Given the description of an element on the screen output the (x, y) to click on. 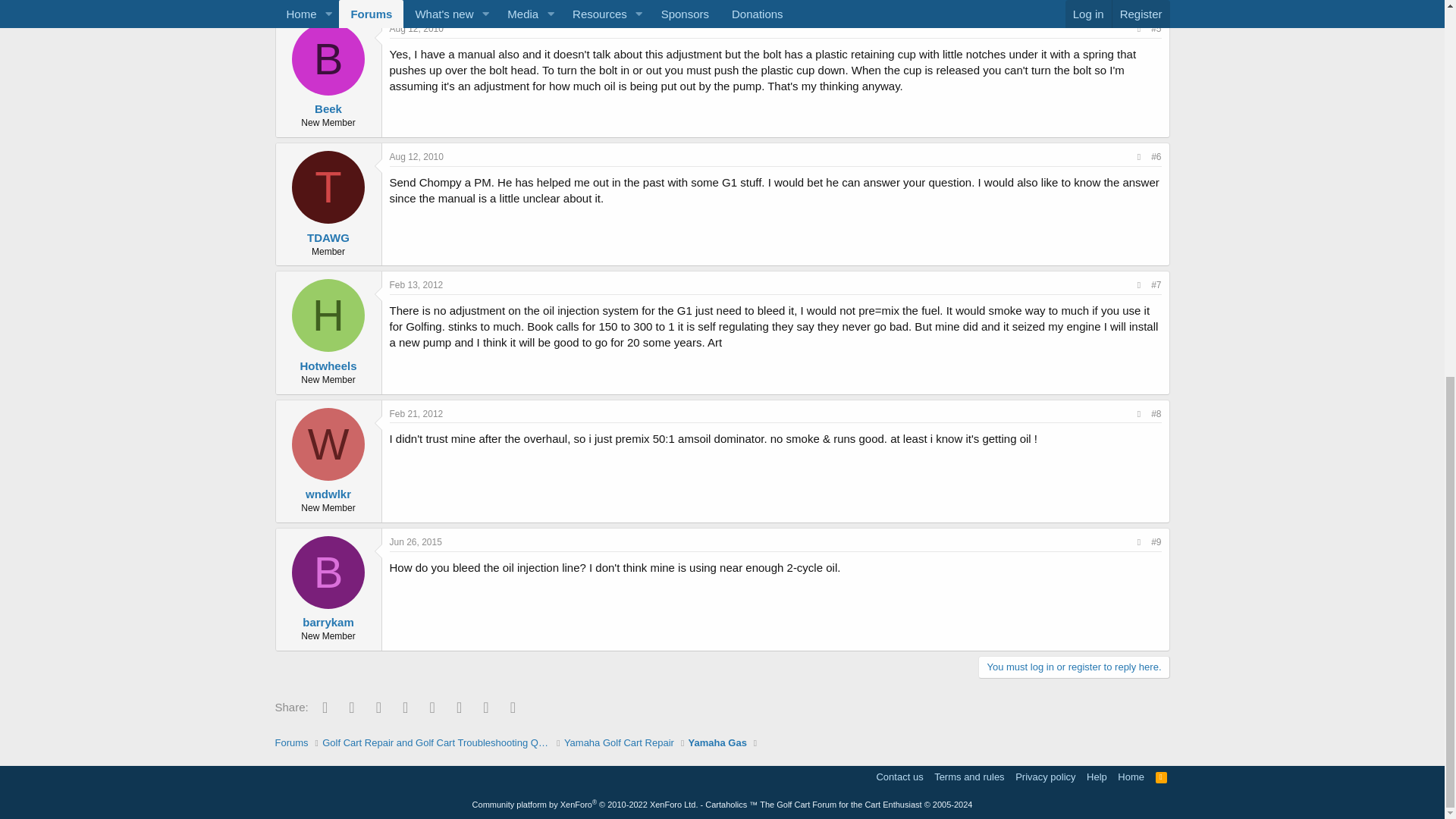
RSS (1161, 776)
Jun 26, 2015 at 12:49 PM (416, 542)
Aug 12, 2010 at 4:28 PM (417, 156)
Feb 21, 2012 at 9:47 PM (417, 413)
Feb 13, 2012 at 7:18 PM (417, 285)
Aug 12, 2010 at 7:22 AM (417, 28)
